Given the description of an element on the screen output the (x, y) to click on. 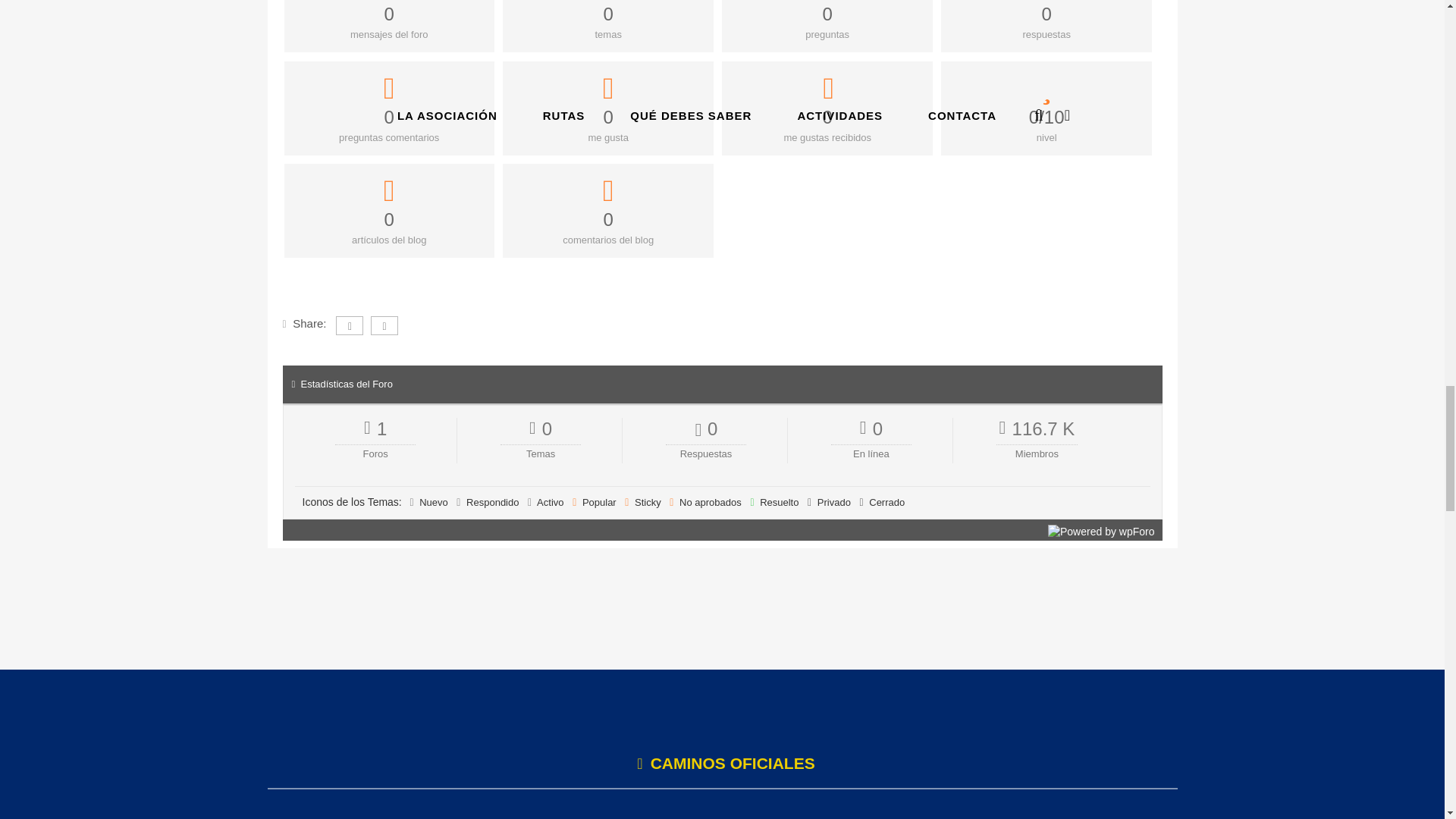
Desarrollado por wpForo version 1.4.9 (1101, 531)
